Given the description of an element on the screen output the (x, y) to click on. 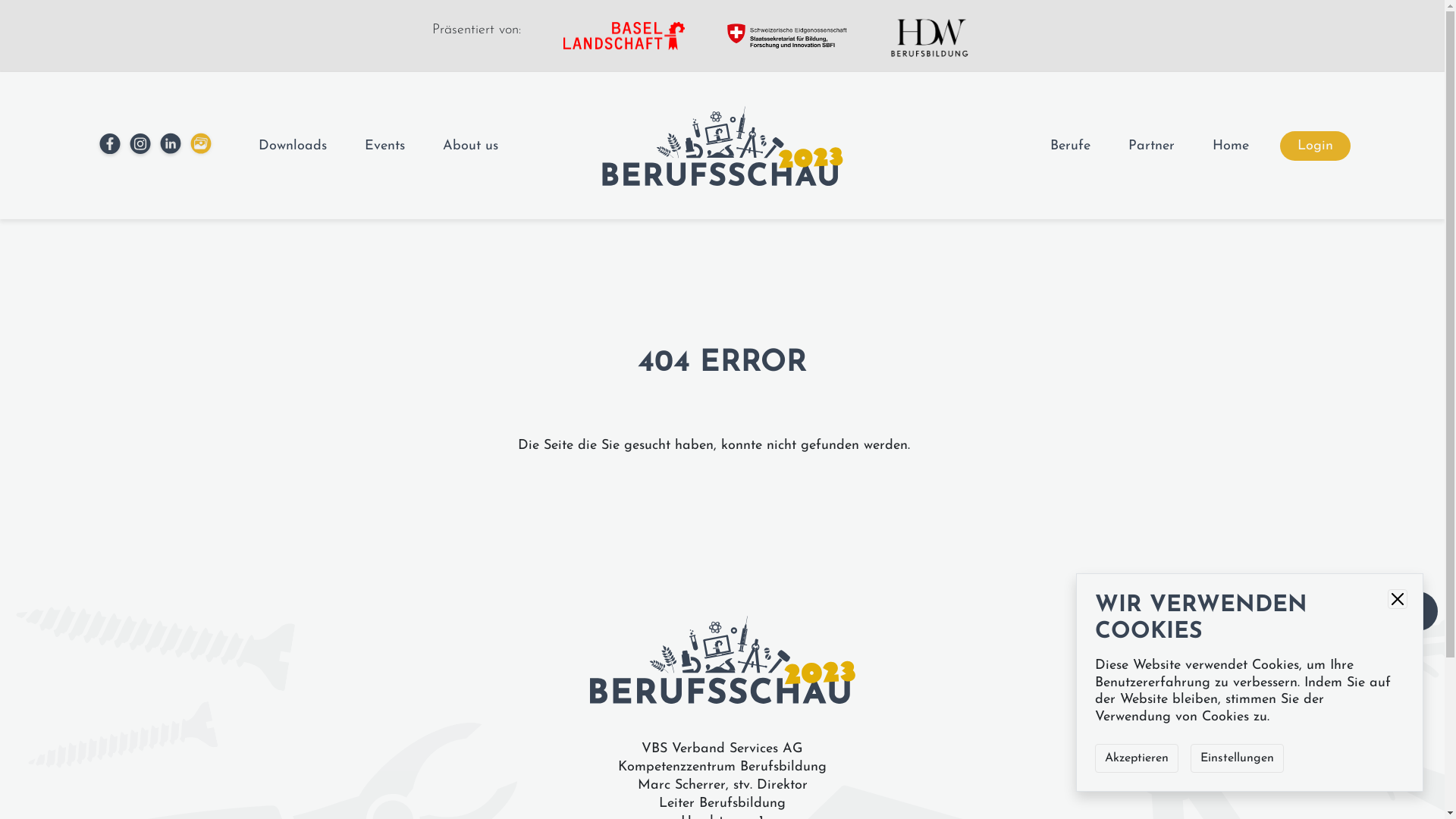
Login Element type: text (1315, 145)
Partner Element type: text (1151, 144)
About us Element type: text (470, 144)
Berufe Element type: text (1069, 144)
Einstellungen Element type: text (1236, 757)
Downloads Element type: text (291, 144)
Home Element type: text (1229, 144)
Events Element type: text (384, 144)
Akzeptieren Element type: text (1136, 757)
